Given the description of an element on the screen output the (x, y) to click on. 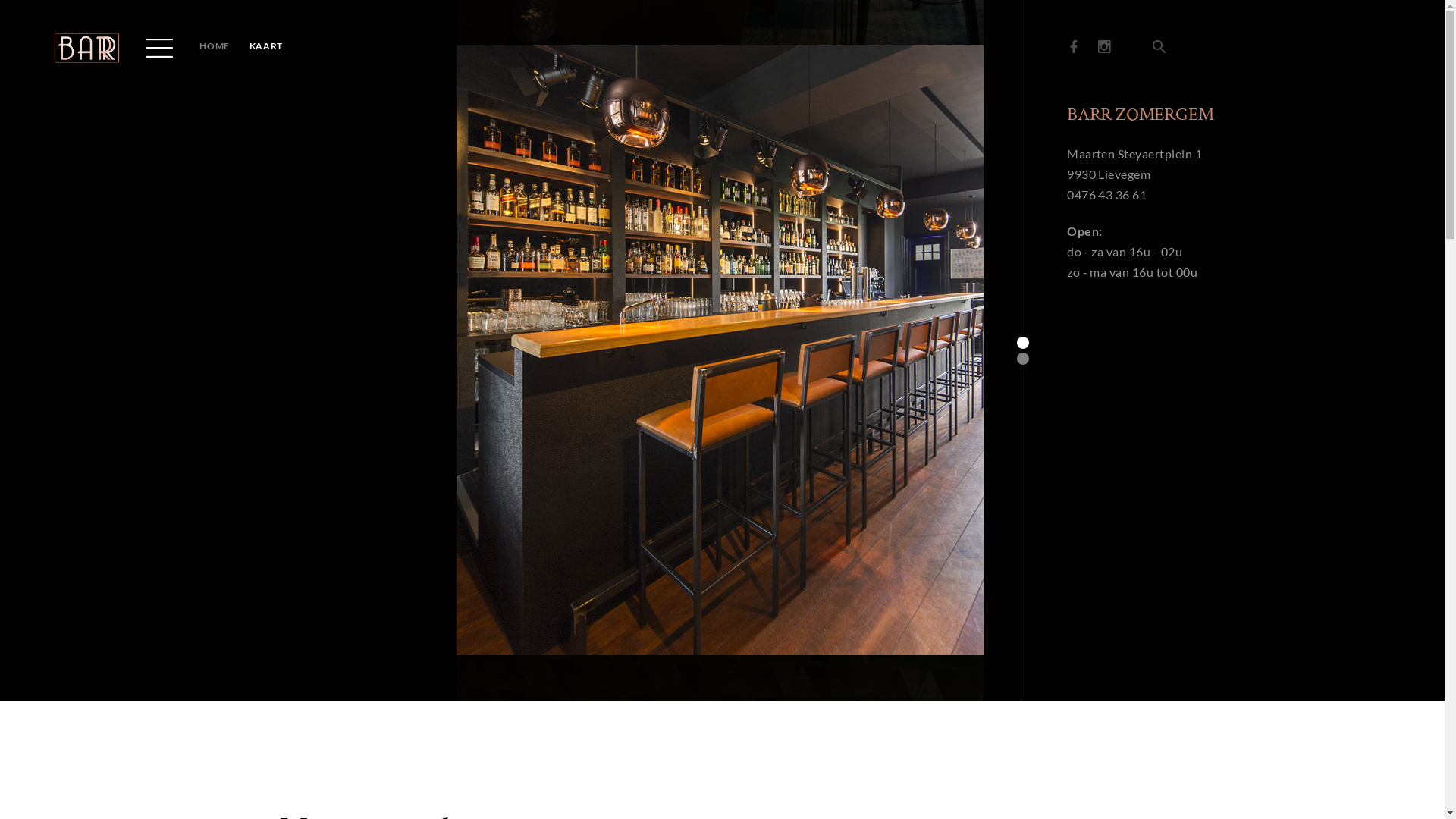
FACEBOOK Element type: text (1075, 46)
INSTAGRAM Element type: text (1105, 46)
HOME Element type: text (214, 45)
KAART Element type: text (265, 45)
